Given the description of an element on the screen output the (x, y) to click on. 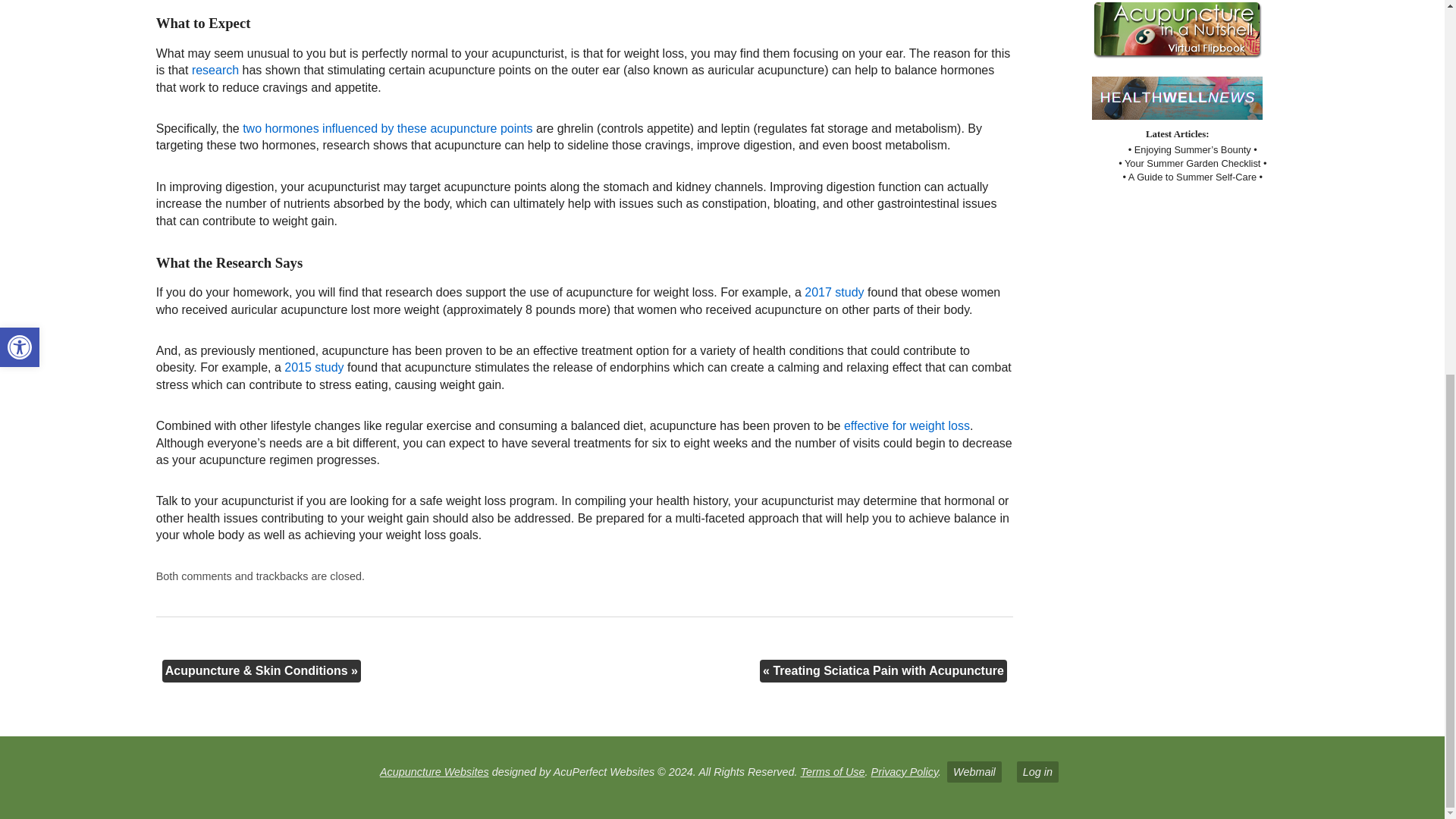
Acupuncture Websites (434, 771)
